Given the description of an element on the screen output the (x, y) to click on. 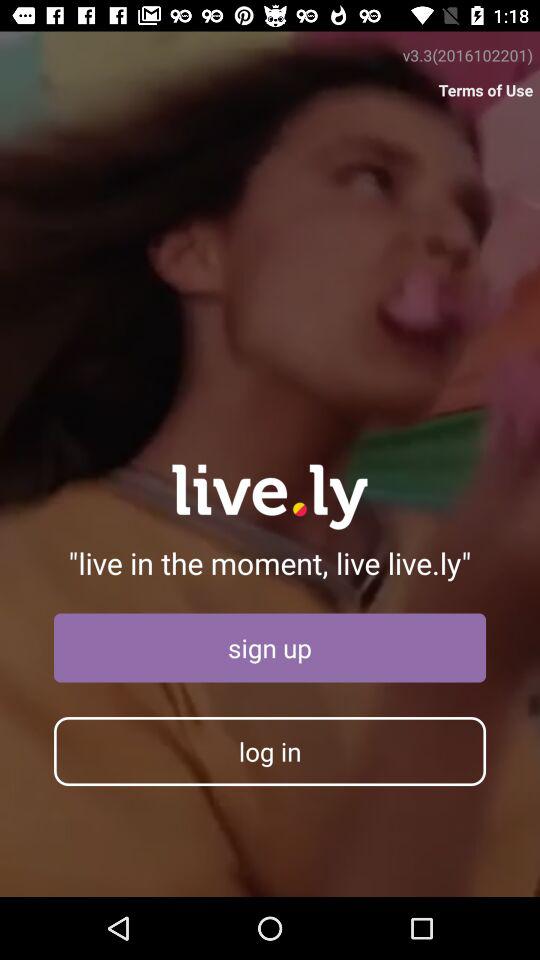
jump to sign up (269, 647)
